Given the description of an element on the screen output the (x, y) to click on. 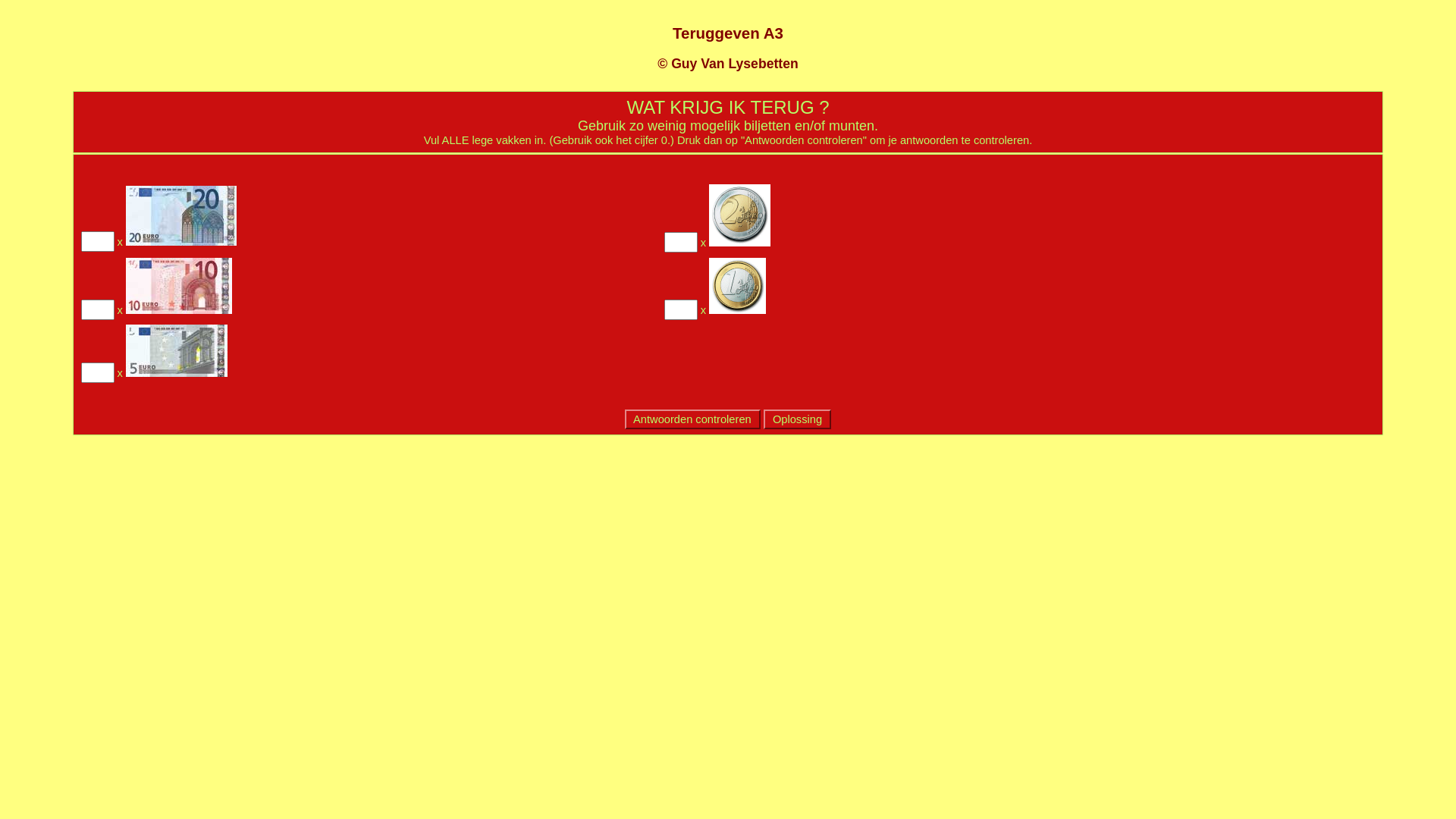
5 euro Element type: hover (176, 350)
10 euro Element type: hover (178, 285)
 Oplossing  Element type: text (797, 419)
20 euro Element type: hover (180, 215)
1 euro Element type: hover (737, 285)
2 euro Element type: hover (739, 215)
 Antwoorden controleren  Element type: text (692, 419)
